Given the description of an element on the screen output the (x, y) to click on. 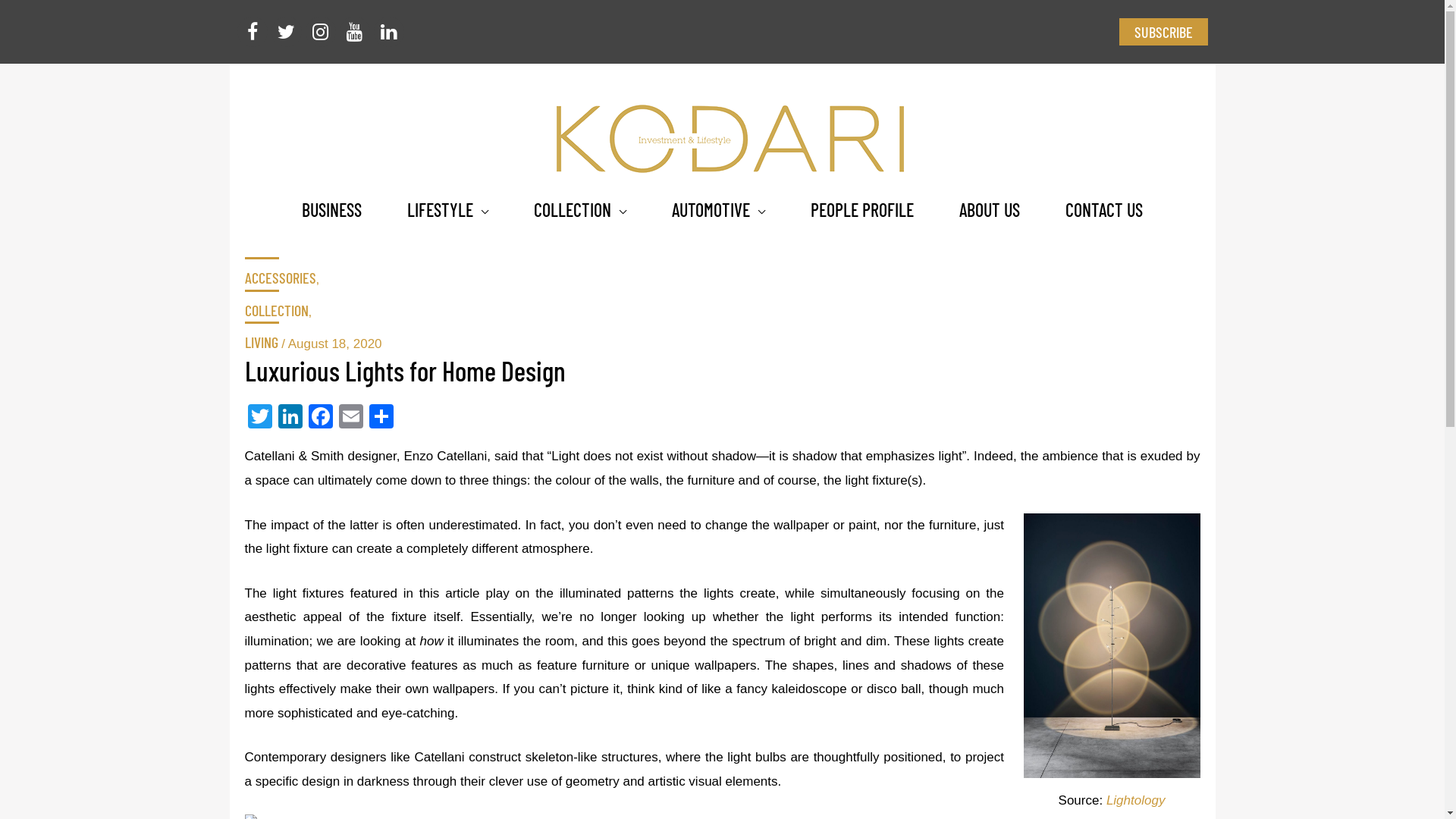
Email Element type: text (350, 418)
LIVING Element type: text (721, 346)
LIFESTYLE Element type: text (447, 209)
Facebook Element type: text (319, 418)
BUSINESS Element type: text (331, 209)
CONTACT US Element type: text (1103, 209)
Lightology Element type: text (1135, 800)
PEOPLE PROFILE Element type: text (861, 209)
AUTOMOTIVE Element type: text (718, 209)
Twitter Element type: text (259, 418)
ACCESSORIES Element type: text (721, 271)
ABOUT US Element type: text (989, 209)
COLLECTION Element type: text (721, 314)
LinkedIn Element type: text (289, 418)
COLLECTION Element type: text (580, 209)
Share Element type: text (380, 418)
SUBSCRIBE Element type: text (1163, 31)
